Given the description of an element on the screen output the (x, y) to click on. 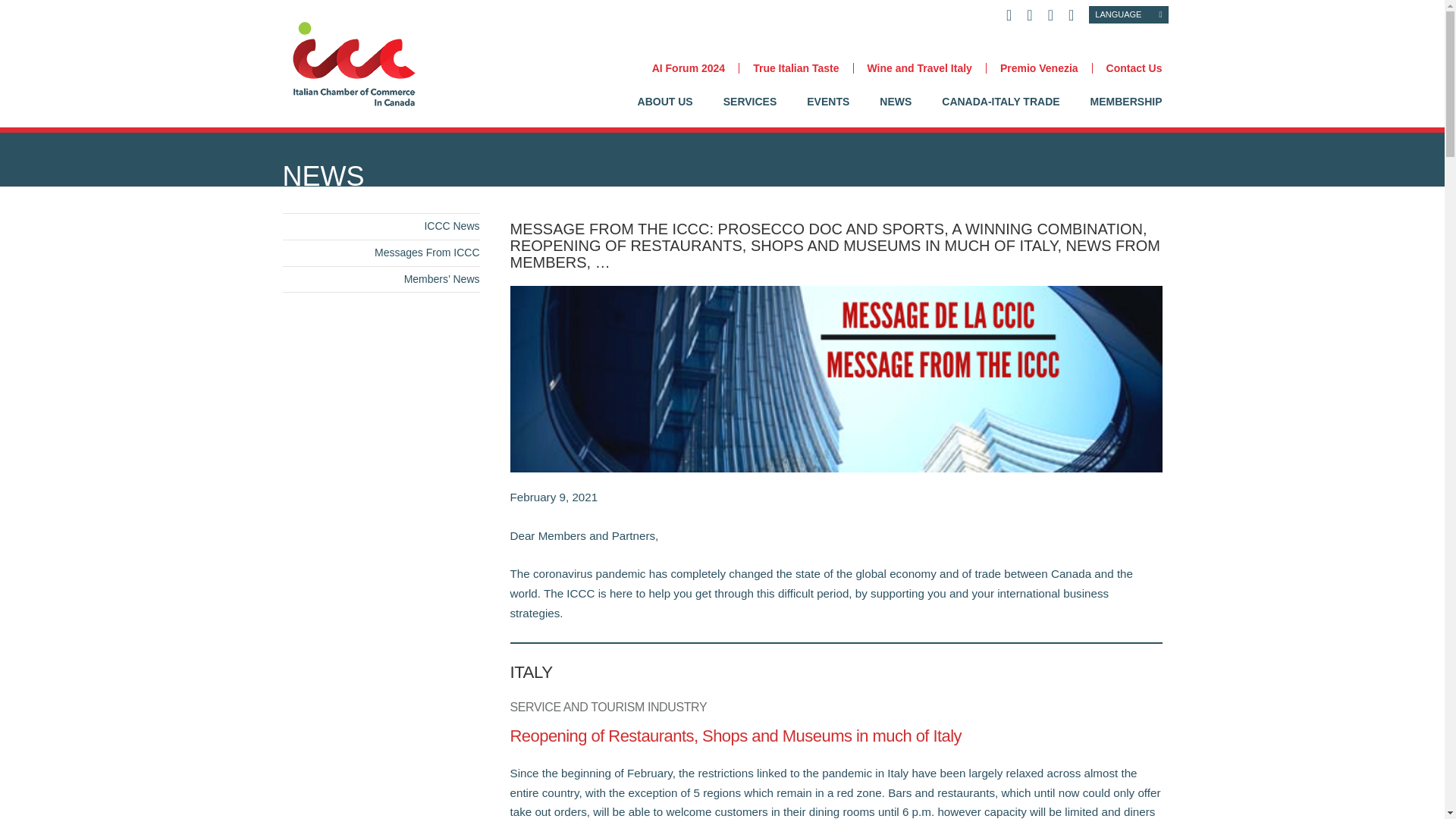
Contact Us (1126, 68)
MEMBERSHIP (1125, 111)
ICCC (355, 62)
Premio Venezia (1038, 68)
ICCC News (451, 225)
True Italian Taste (794, 68)
CANADA-ITALY TRADE (1000, 111)
Wine and Travel Italy (918, 68)
SERVICES (750, 111)
ABOUT US (665, 111)
NEWS (895, 111)
AI Forum 2024 (688, 68)
EVENTS (827, 111)
Messages From ICCC (426, 252)
